Given the description of an element on the screen output the (x, y) to click on. 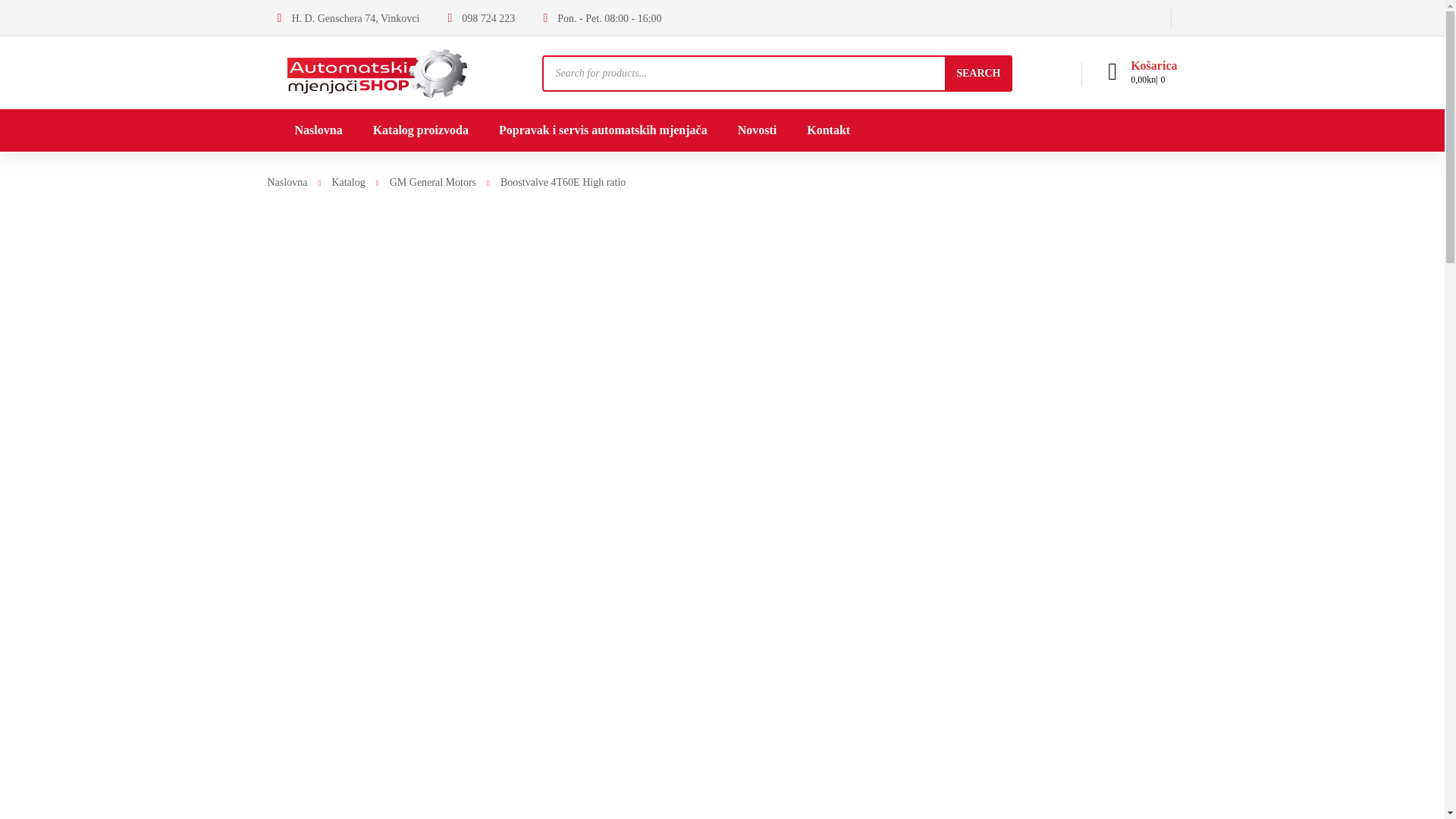
Kontakt (828, 129)
Shop (376, 72)
View your shopping cart (1153, 72)
Naslovna (286, 182)
Naslovna (318, 129)
GM General Motors (420, 182)
Katalog proizvoda (420, 129)
Novosti (757, 129)
SEARCH (977, 73)
Katalog (336, 182)
